Given the description of an element on the screen output the (x, y) to click on. 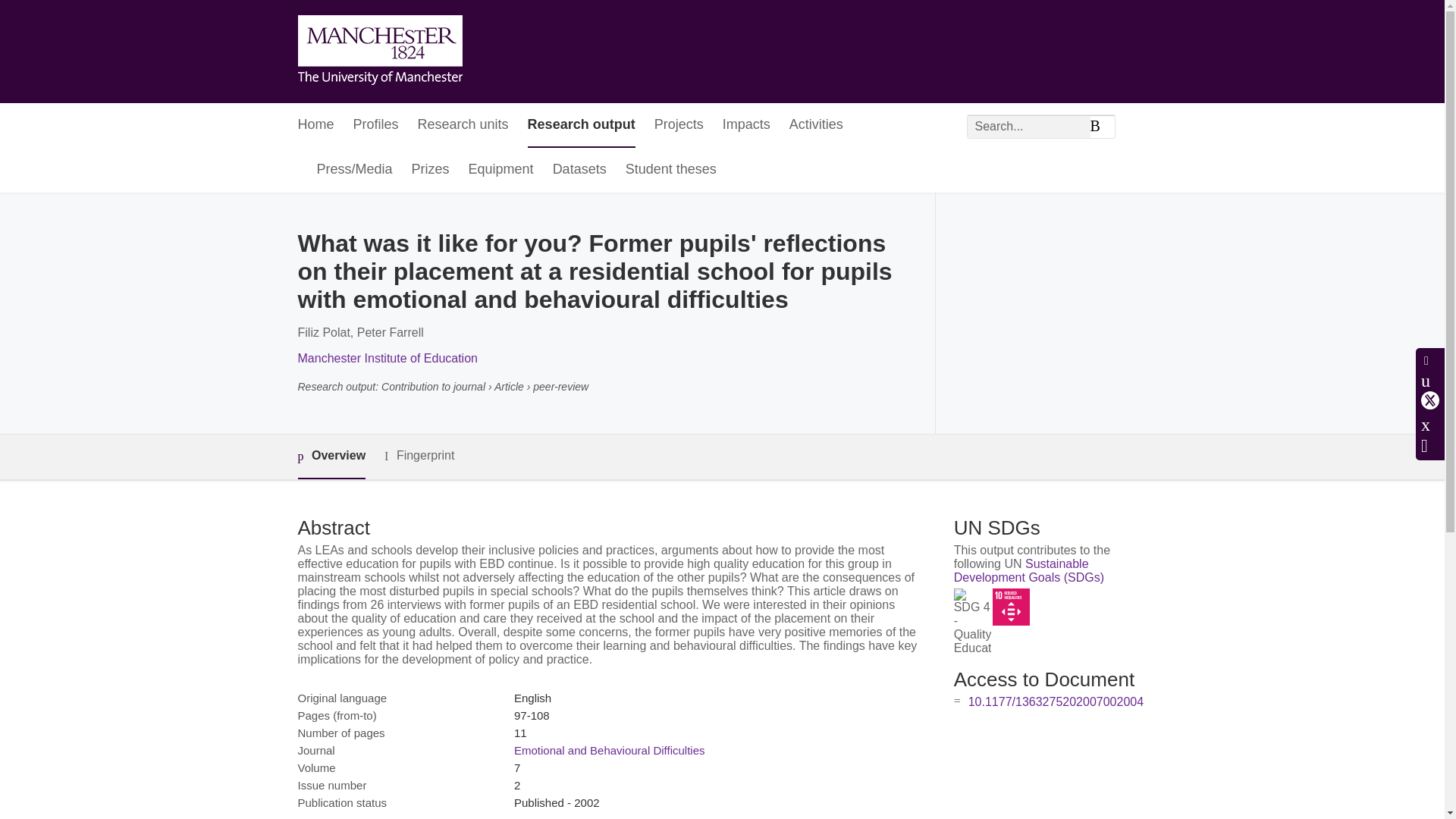
Overview (331, 456)
Datasets (580, 170)
Emotional and Behavioural Difficulties (608, 749)
Research output (580, 125)
Student theses (671, 170)
Manchester Institute of Education (387, 358)
Equipment (501, 170)
Fingerprint (419, 455)
Impacts (746, 125)
Profiles (375, 125)
